Given the description of an element on the screen output the (x, y) to click on. 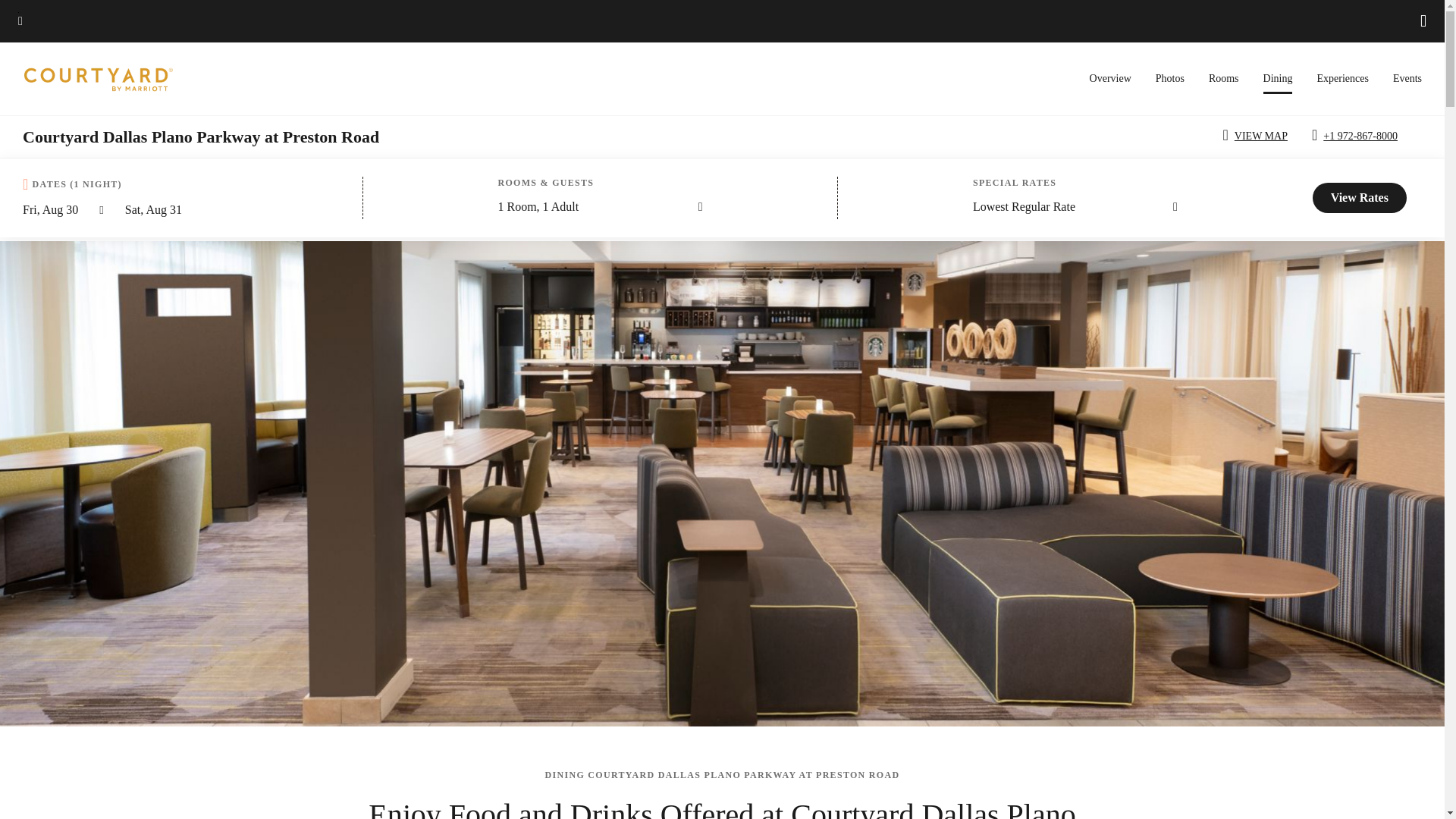
Overview (1110, 78)
Events (1407, 78)
Rooms (1223, 78)
Photos (1170, 78)
Dining (1277, 83)
VIEW MAP (1257, 136)
Experiences (1342, 78)
